Given the description of an element on the screen output the (x, y) to click on. 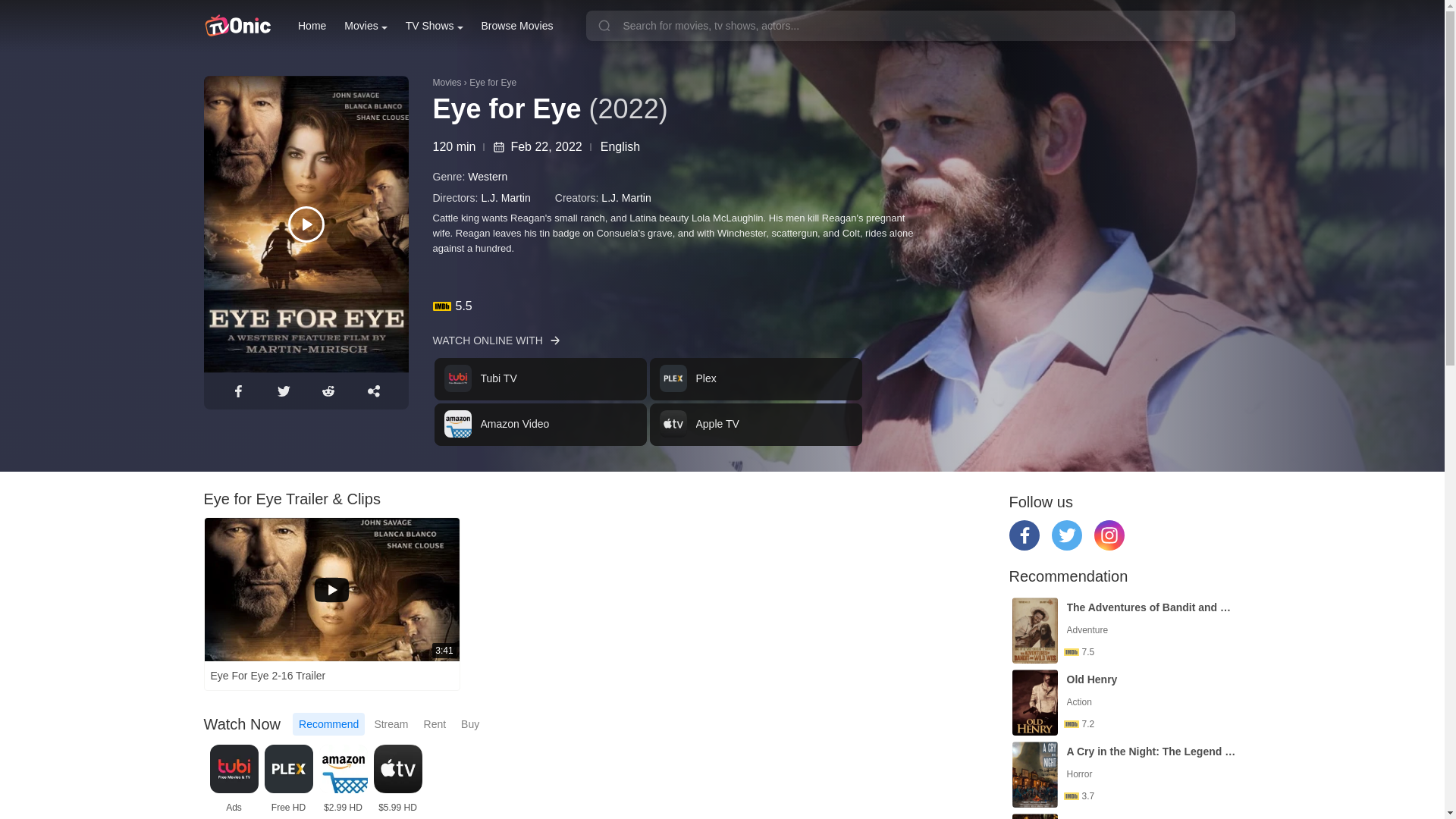
TVOnic (236, 25)
TV Shows (434, 25)
Home (647, 401)
Movies (312, 25)
5.5 (365, 25)
Movies (836, 306)
